Given the description of an element on the screen output the (x, y) to click on. 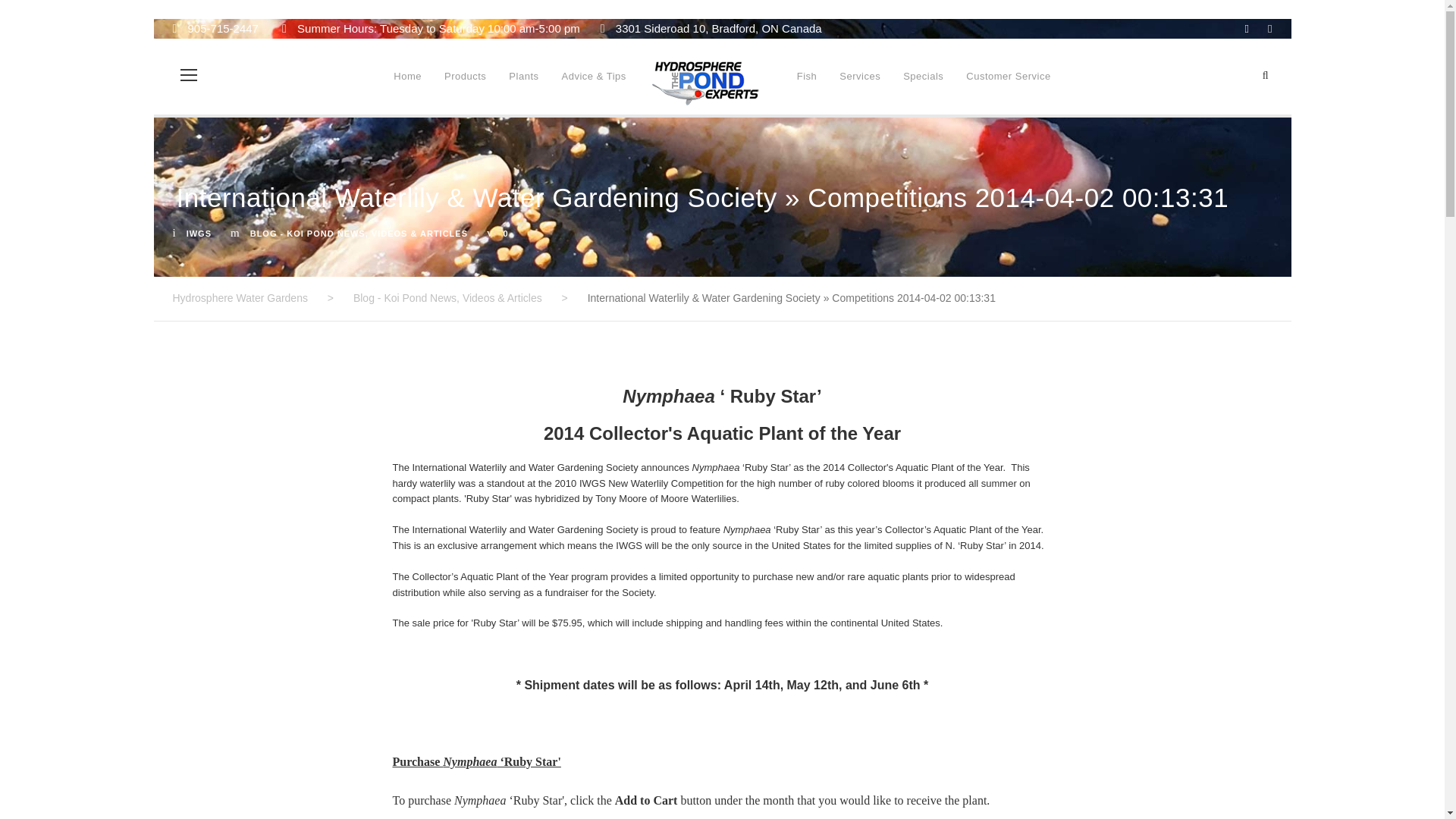
hydrosphere-the-pond-experts (705, 83)
Go to Hydrosphere Water Gardens. (240, 297)
Posts by IWGS (198, 233)
